Given the description of an element on the screen output the (x, y) to click on. 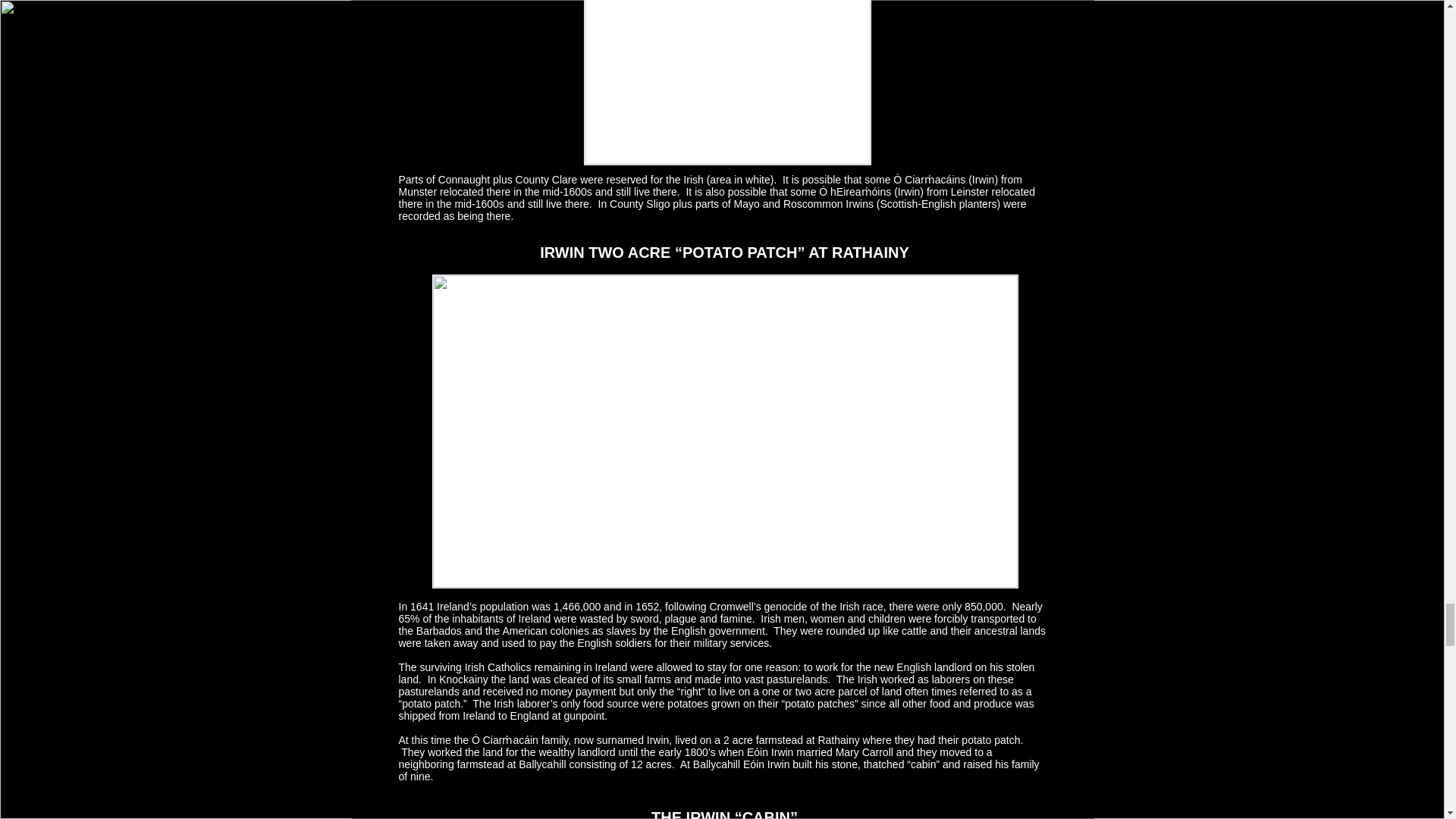
IMG-Chapter9T.jpg (726, 82)
